Given the description of an element on the screen output the (x, y) to click on. 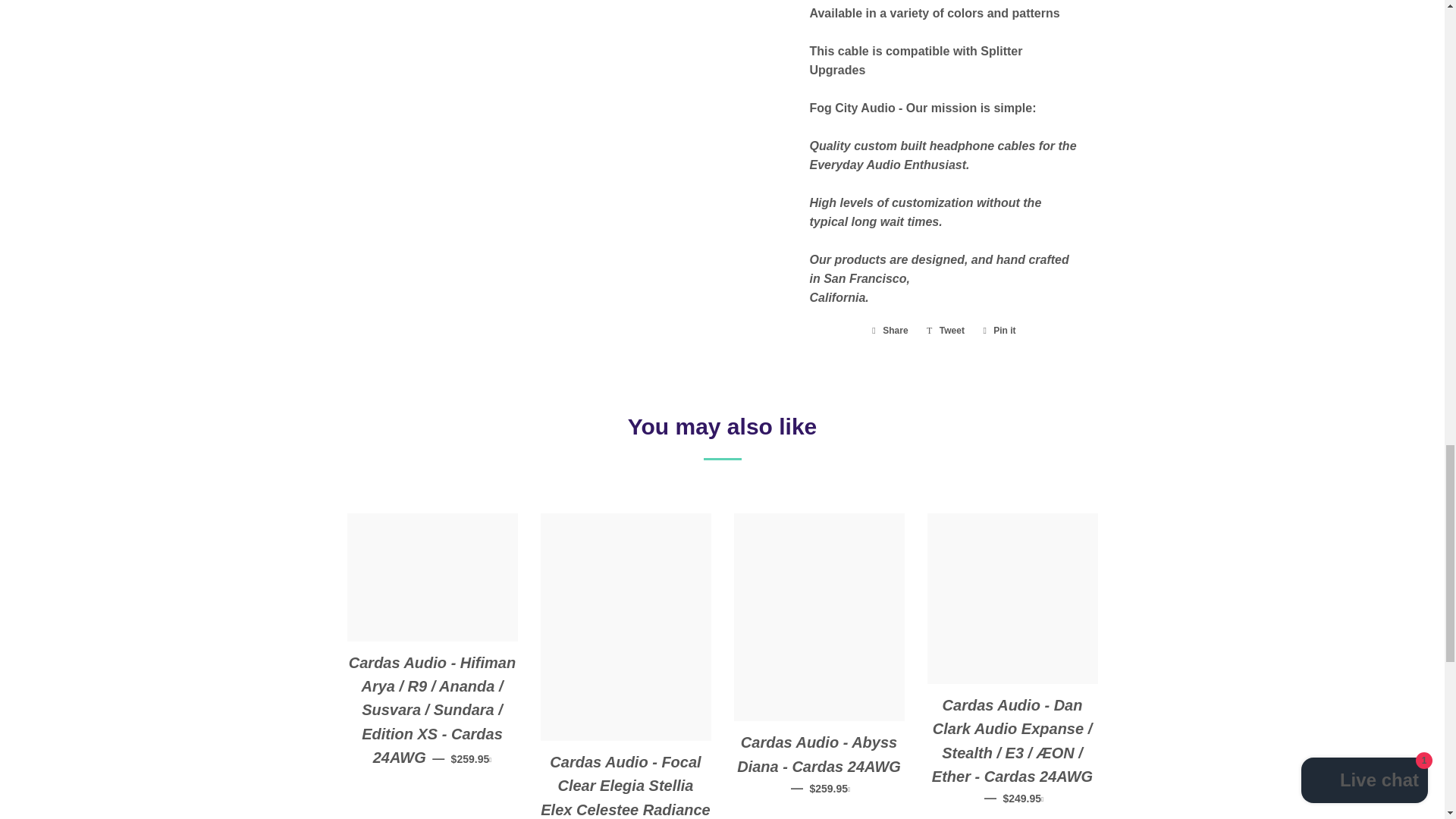
Tweet on Twitter (945, 330)
Share on Facebook (889, 330)
Pin on Pinterest (999, 330)
